Given the description of an element on the screen output the (x, y) to click on. 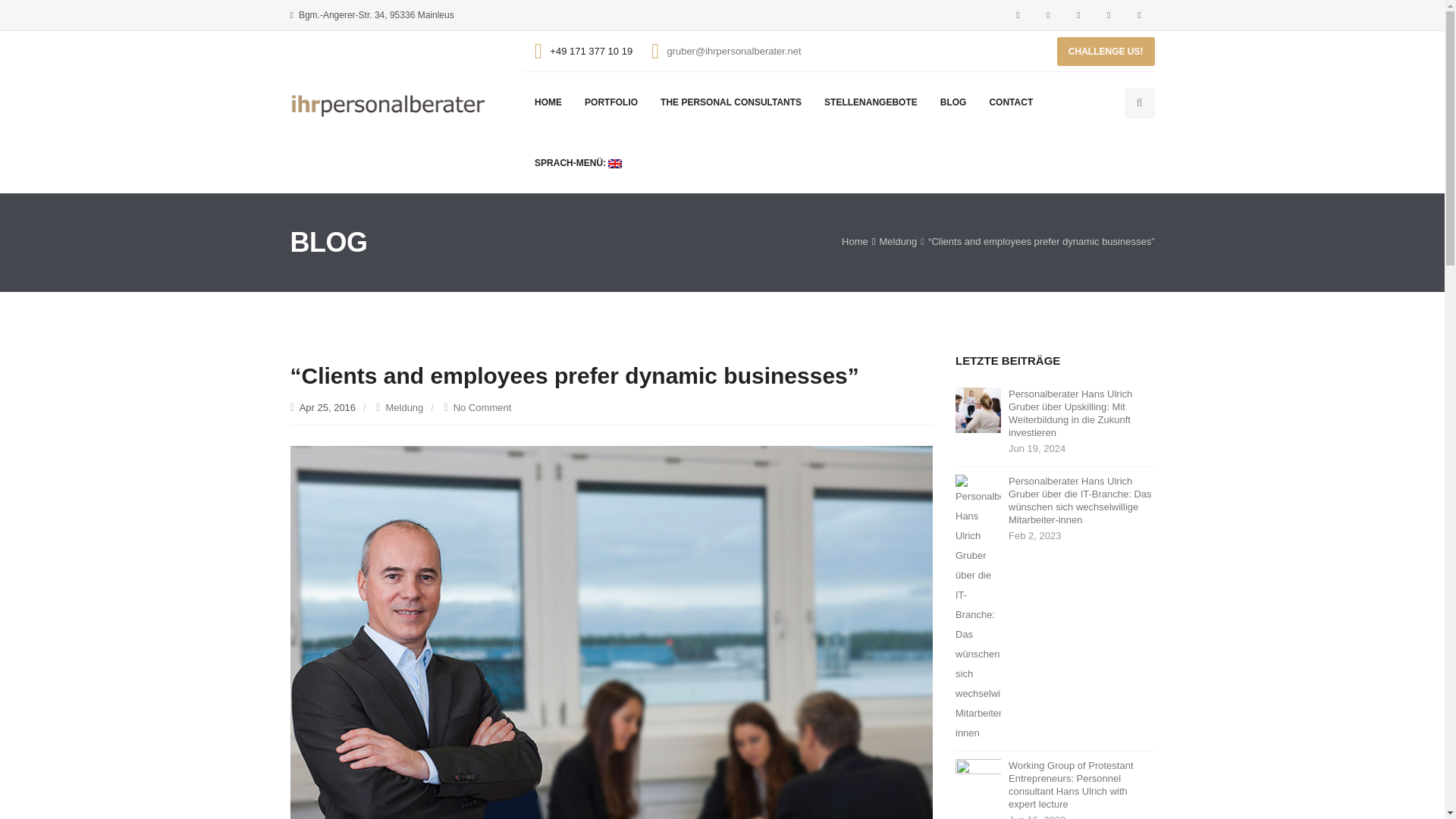
Meldung (404, 407)
Xing (1108, 15)
Meldung (898, 242)
PORTFOLIO (611, 102)
STELLENANGEBOTE (870, 102)
LinkedIn (1077, 15)
English (577, 162)
You Tube (1139, 15)
Facebook (1017, 15)
No Comment (482, 407)
